Given the description of an element on the screen output the (x, y) to click on. 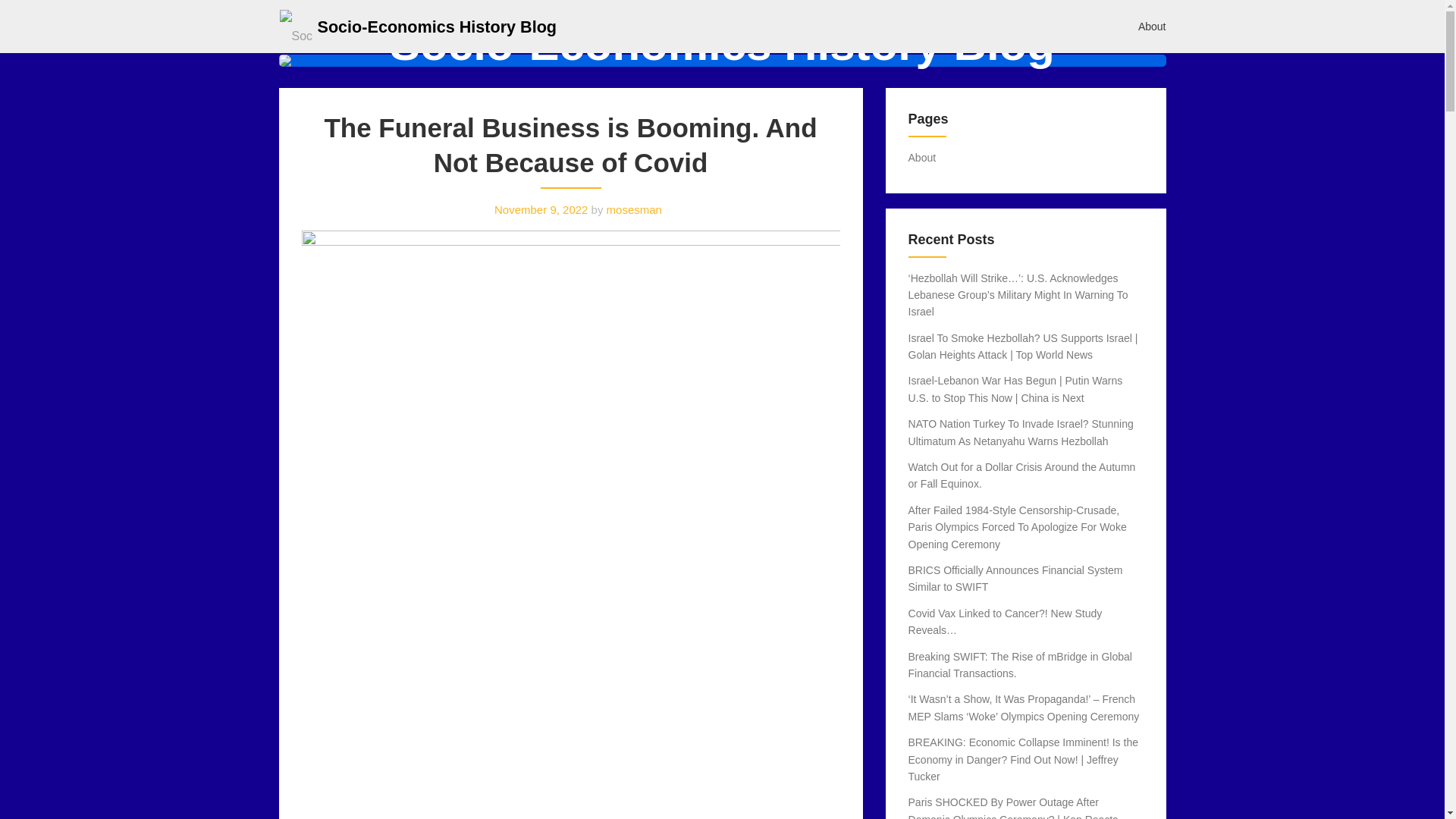
November 9, 2022 (541, 209)
BRICS Officially Announces Financial System Similar to SWIFT (1015, 578)
Socio-Economics History Blog (436, 26)
About (922, 157)
About (1151, 26)
